Given the description of an element on the screen output the (x, y) to click on. 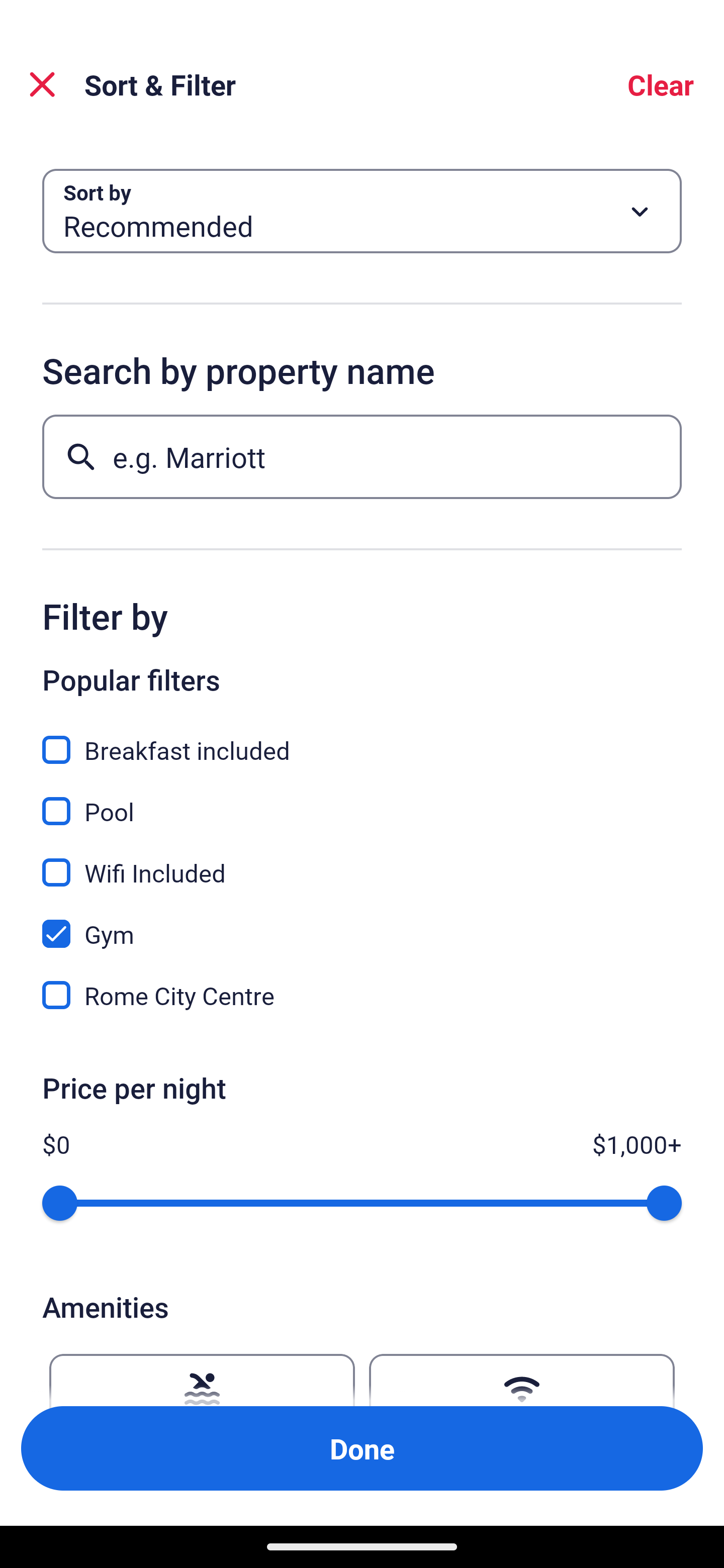
Close Sort and Filter (42, 84)
Clear (660, 84)
Sort by Button Recommended (361, 211)
e.g. Marriott Button (361, 455)
Breakfast included, Breakfast included (361, 738)
Pool, Pool (361, 800)
Wifi Included, Wifi Included (361, 861)
Gym, Gym (361, 922)
Rome City Centre, Rome City Centre (361, 995)
Apply and close Sort and Filter Done (361, 1448)
